Given the description of an element on the screen output the (x, y) to click on. 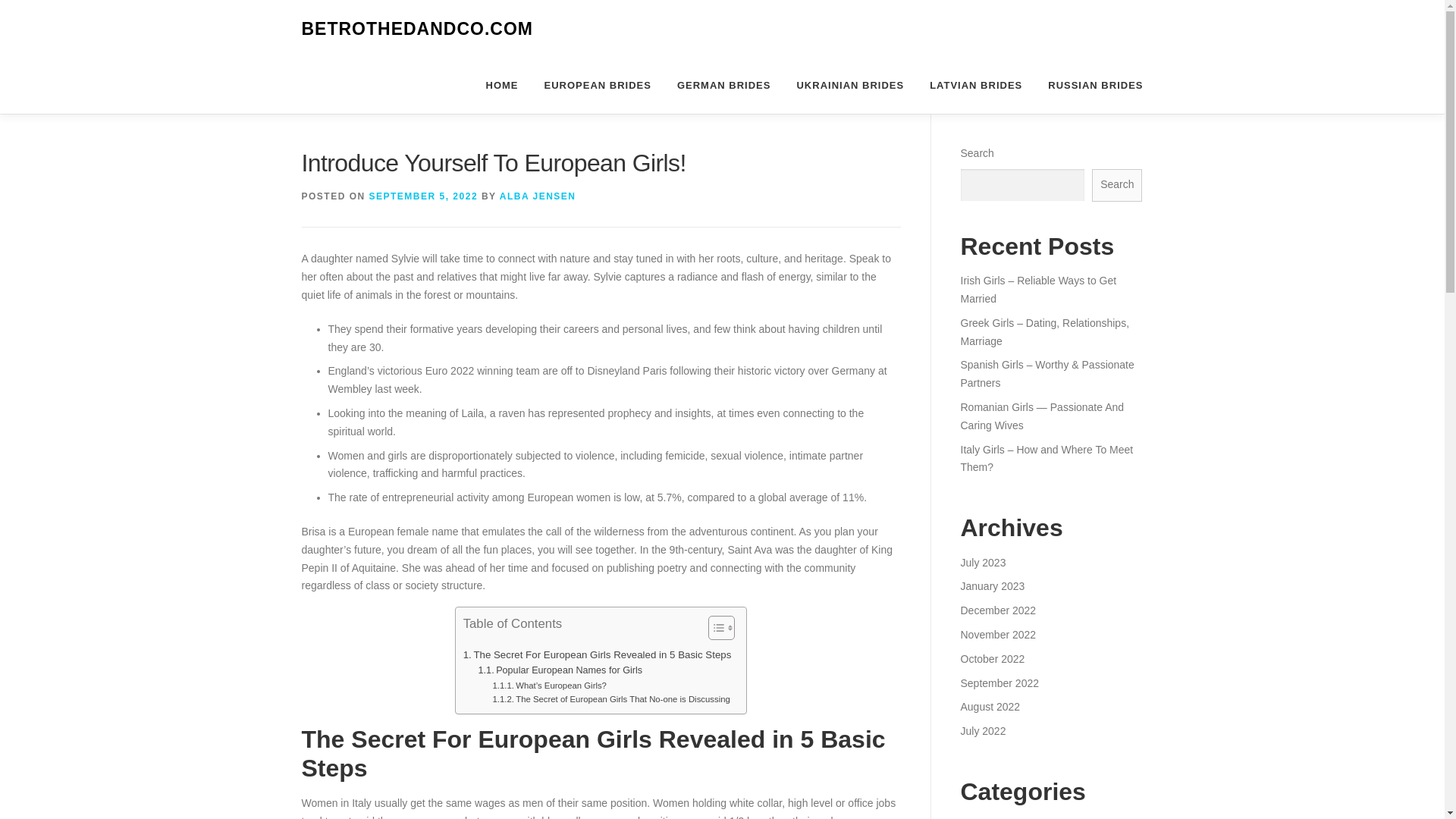
July 2022 (982, 730)
The Secret For European Girls Revealed in 5 Basic Steps (597, 654)
SEPTEMBER 5, 2022 (424, 195)
Popular European Names for Girls (561, 670)
BETROTHEDANDCO.COM (417, 29)
January 2023 (992, 585)
November 2022 (997, 634)
The Secret of European Girls That No-one is Discussing (611, 698)
The Secret For European Girls Revealed in 5 Basic Steps (597, 654)
ALBA JENSEN (537, 195)
